Given the description of an element on the screen output the (x, y) to click on. 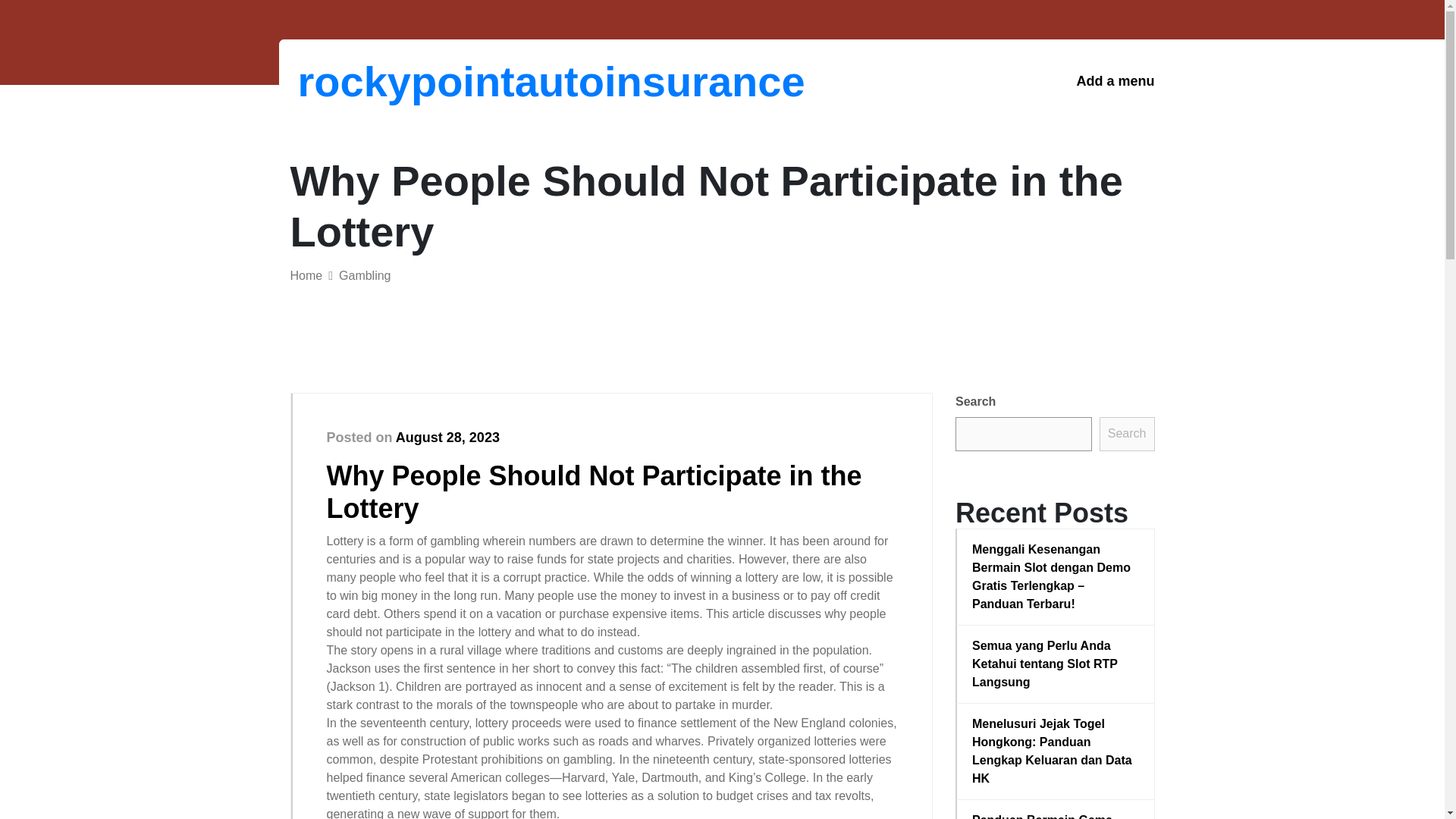
Add a menu (1114, 81)
rockypointautoinsurance (376, 81)
August 28, 2023 (447, 437)
Search (1126, 433)
Why People Should Not Participate in the Lottery (593, 492)
Semua yang Perlu Anda Ketahui tentang Slot RTP Langsung (1055, 664)
Panduan Bermain Game Slot Online: Tips dan Trik untuk Menang (1055, 815)
Home (305, 275)
Gambling (364, 275)
